Given the description of an element on the screen output the (x, y) to click on. 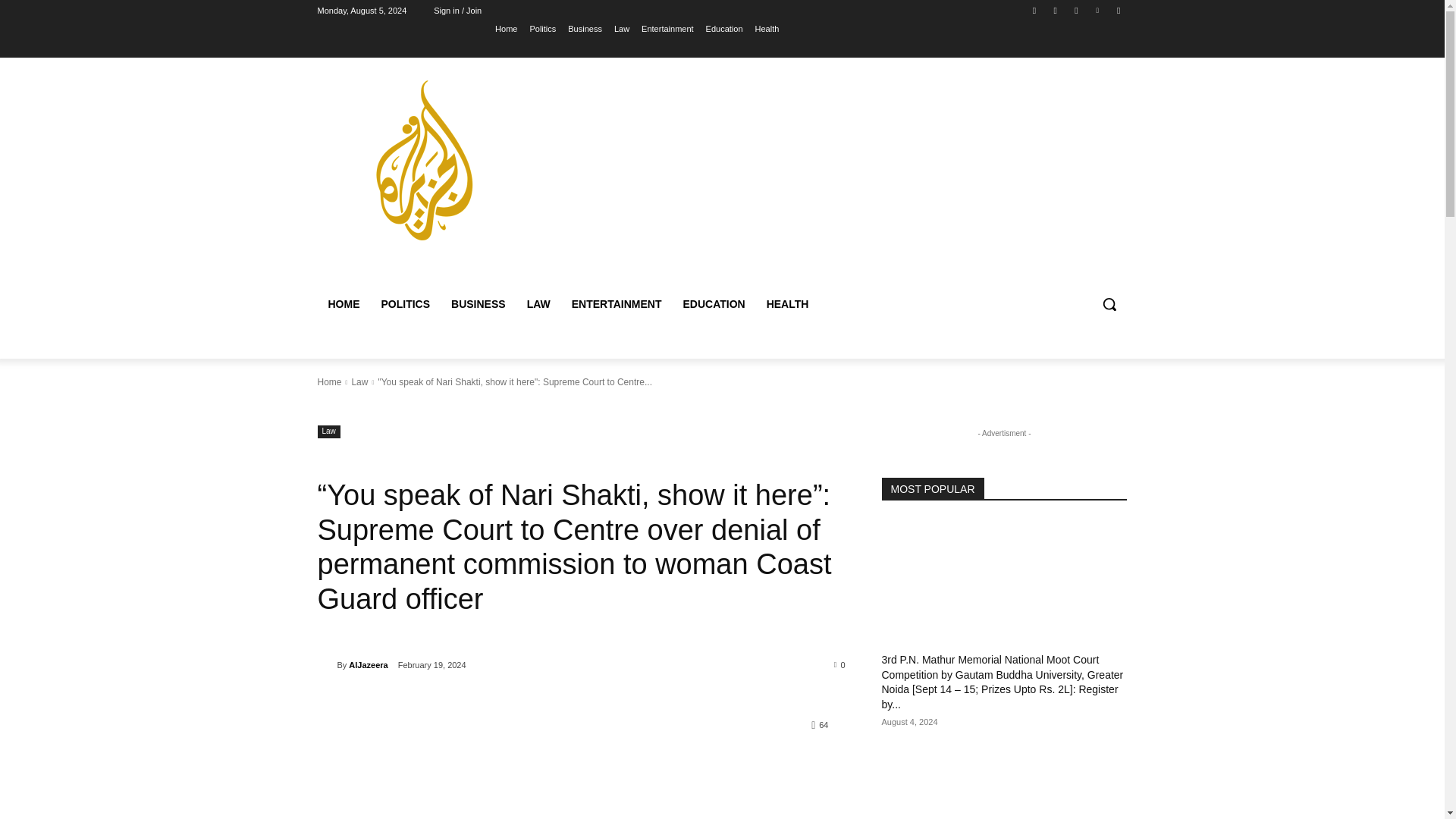
Home (328, 381)
Law (621, 28)
Health (766, 28)
Law (328, 431)
BUSINESS (478, 303)
AlJazeera (326, 664)
View all posts in Law (359, 381)
Twitter (1075, 9)
Entertainment (667, 28)
ENTERTAINMENT (616, 303)
Law (359, 381)
EDUCATION (713, 303)
AlJazeera (368, 664)
Business (584, 28)
HOME (343, 303)
